Given the description of an element on the screen output the (x, y) to click on. 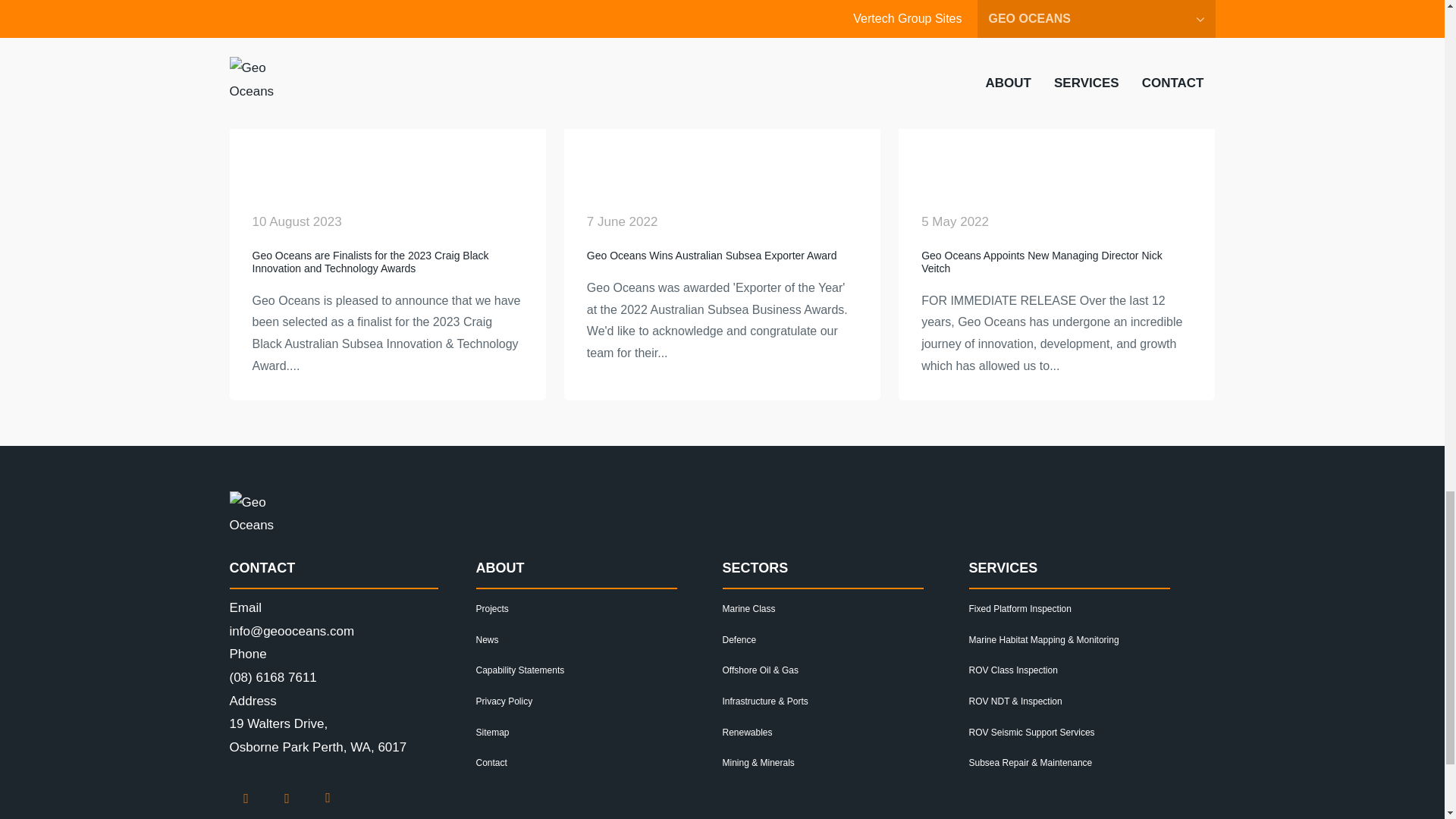
Australian Subsea Exporter of the Year awards. (721, 131)
Geo Oceans (251, 514)
